Given the description of an element on the screen output the (x, y) to click on. 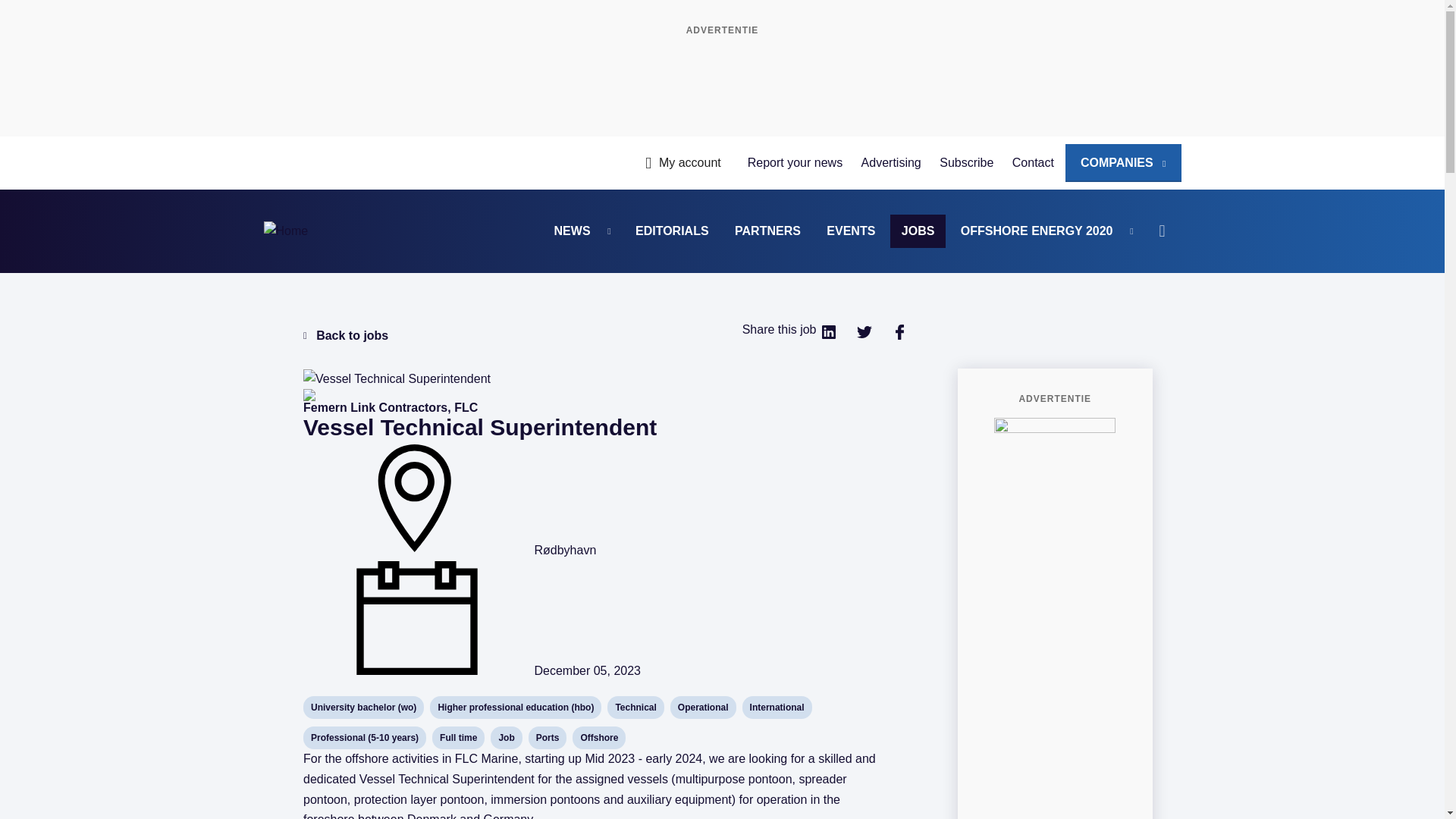
My account (683, 162)
COMPANIES (1122, 162)
Advertising (890, 162)
Report your news (794, 162)
Contact (1032, 162)
Subscribe (966, 162)
